Given the description of an element on the screen output the (x, y) to click on. 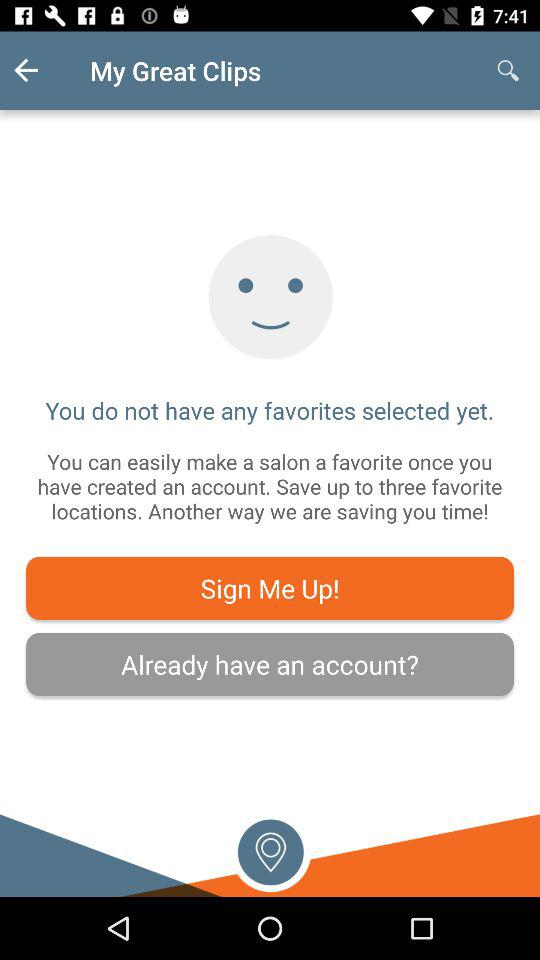
location icon (270, 850)
